Given the description of an element on the screen output the (x, y) to click on. 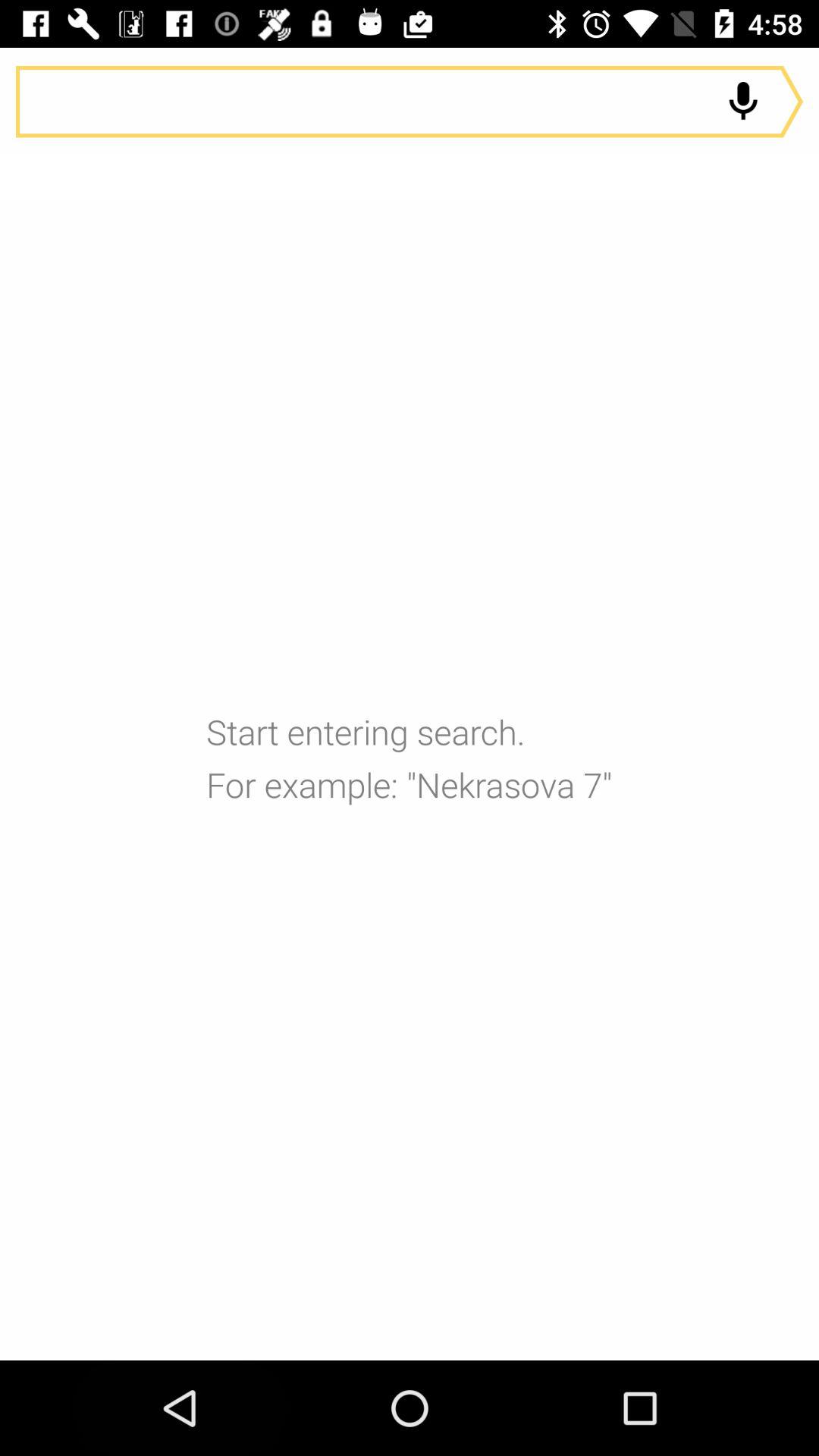
launch the icon at the top right corner (743, 101)
